Given the description of an element on the screen output the (x, y) to click on. 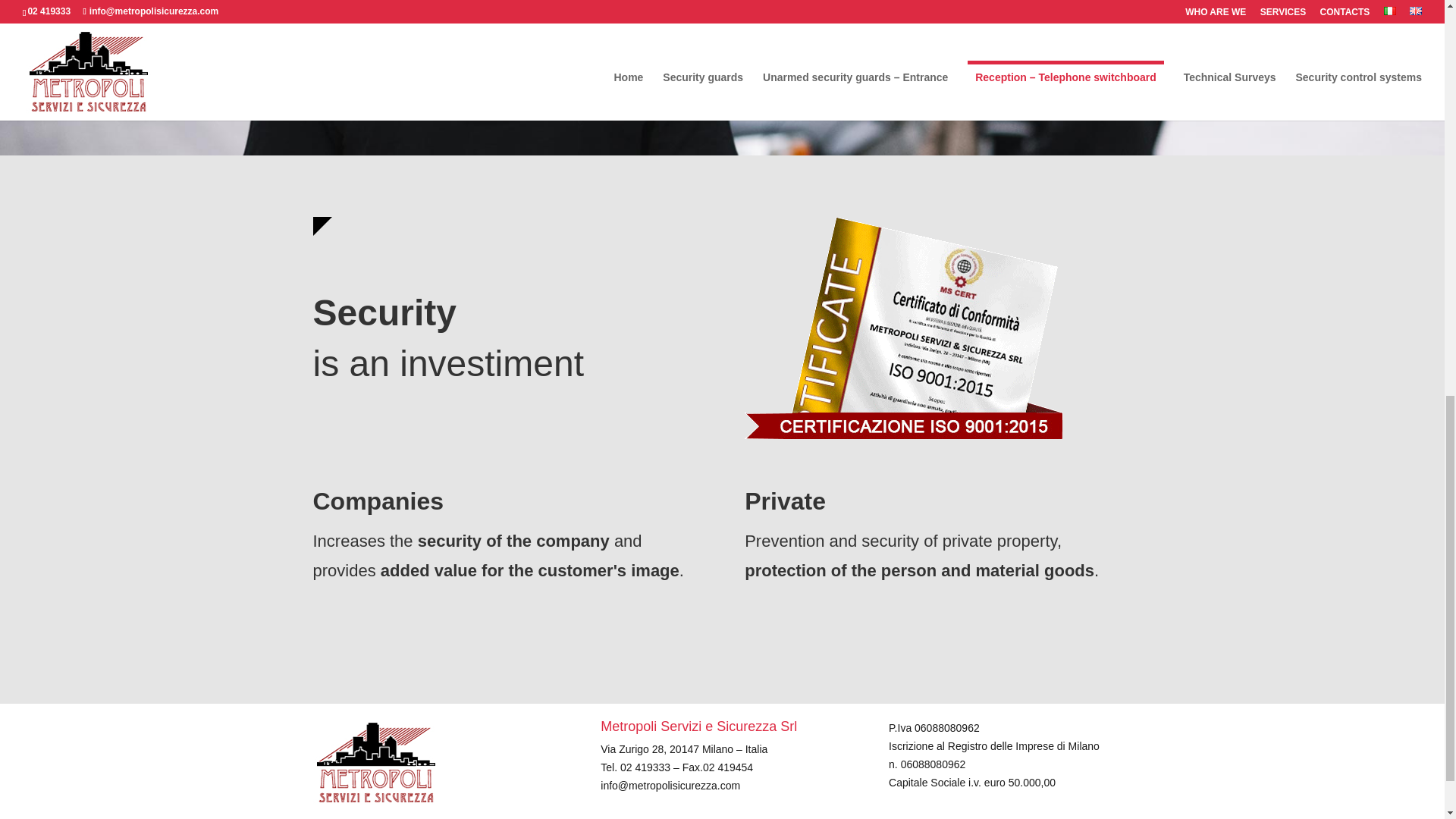
02 419333 (646, 767)
